Given the description of an element on the screen output the (x, y) to click on. 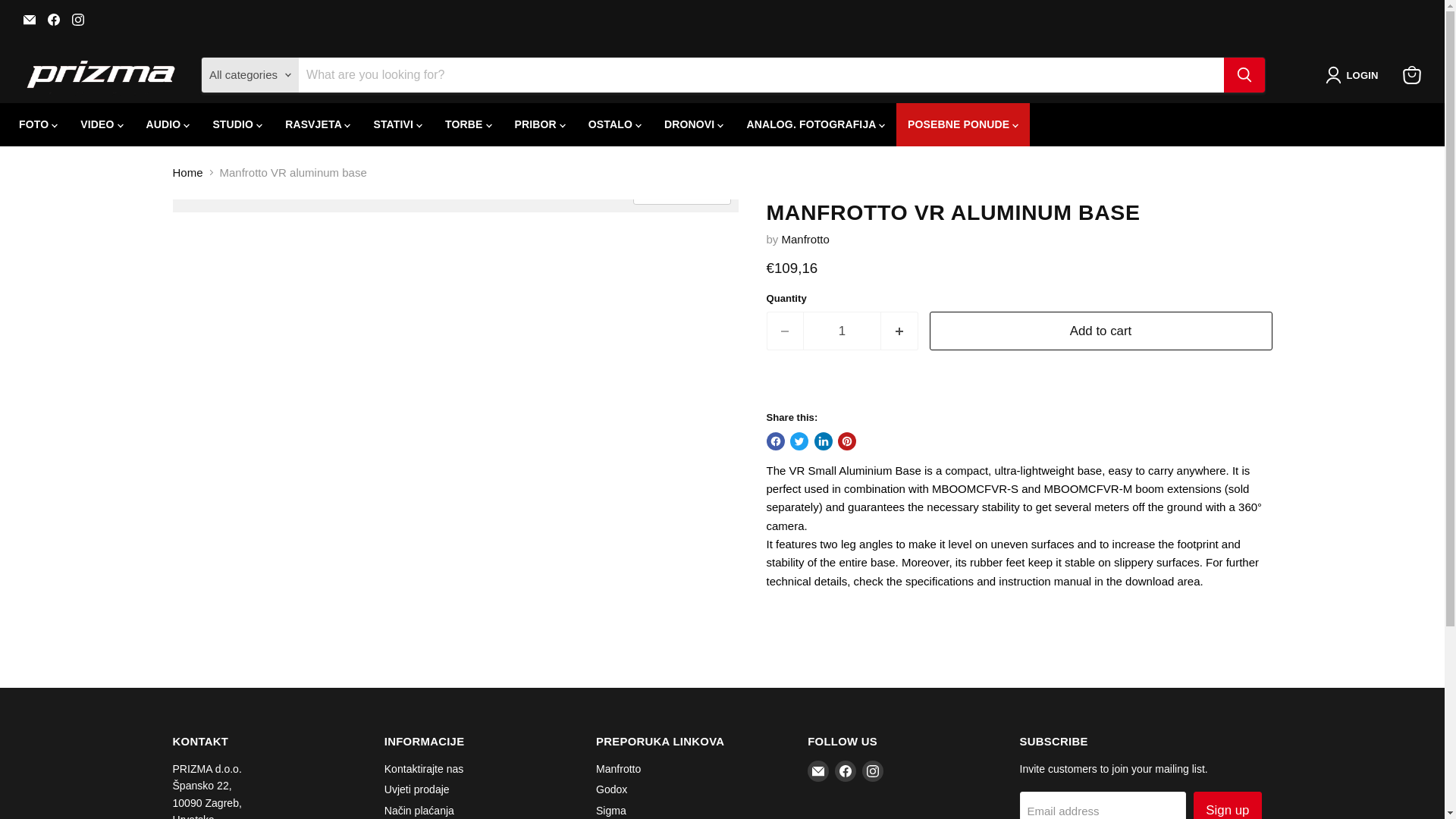
Instagram (872, 771)
Email Prizma-Foto (29, 19)
Find us on Facebook (53, 19)
Find us on Instagram (77, 19)
Facebook (845, 771)
Facebook (53, 19)
Manfrotto (805, 238)
1 (841, 331)
View cart (1411, 74)
Email (818, 771)
Email (29, 19)
LOGIN (1354, 75)
Instagram (77, 19)
